Given the description of an element on the screen output the (x, y) to click on. 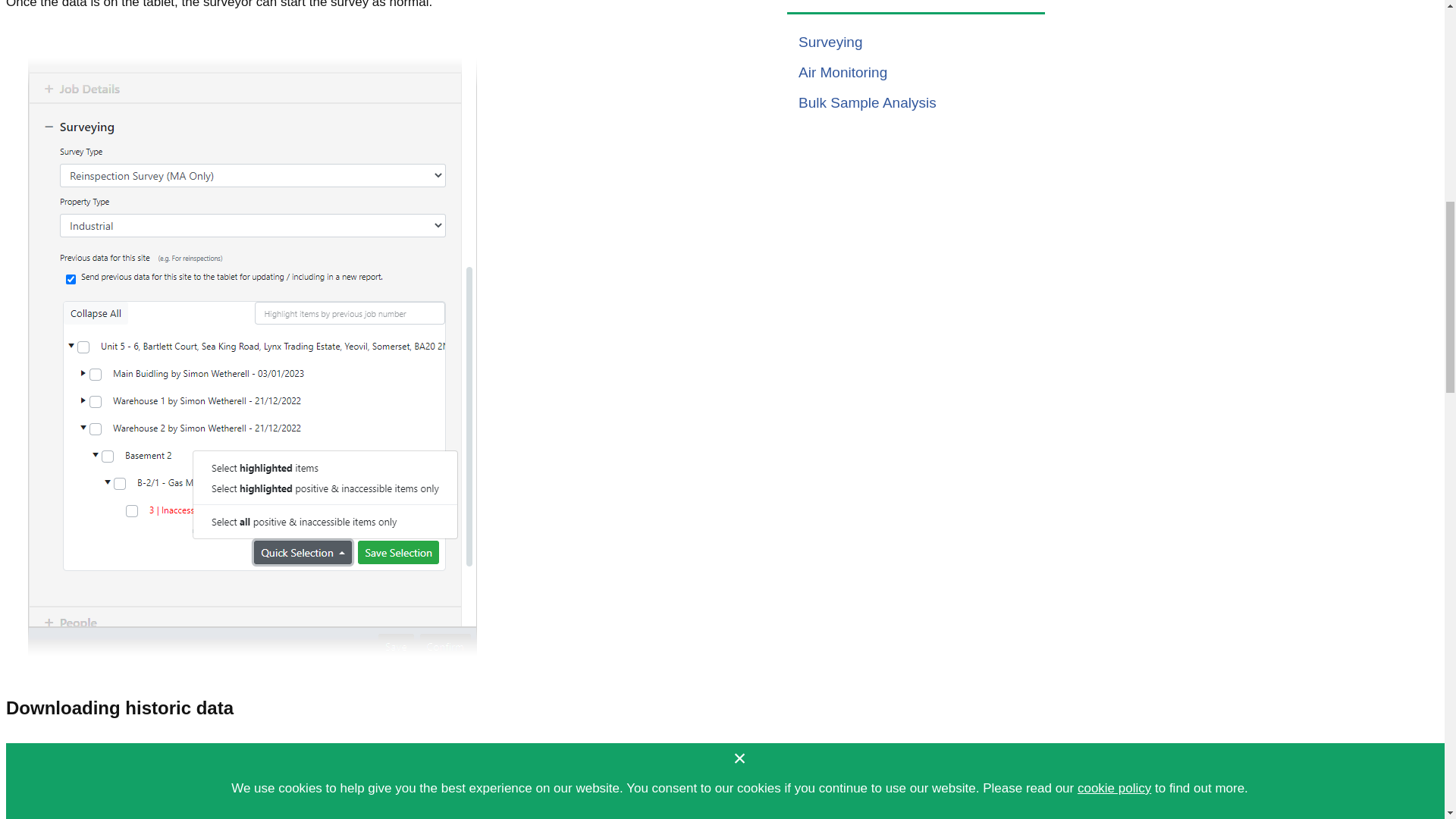
Surveying (830, 41)
Bulk Sample Analysis (866, 102)
Air Monitoring (841, 72)
